Given the description of an element on the screen output the (x, y) to click on. 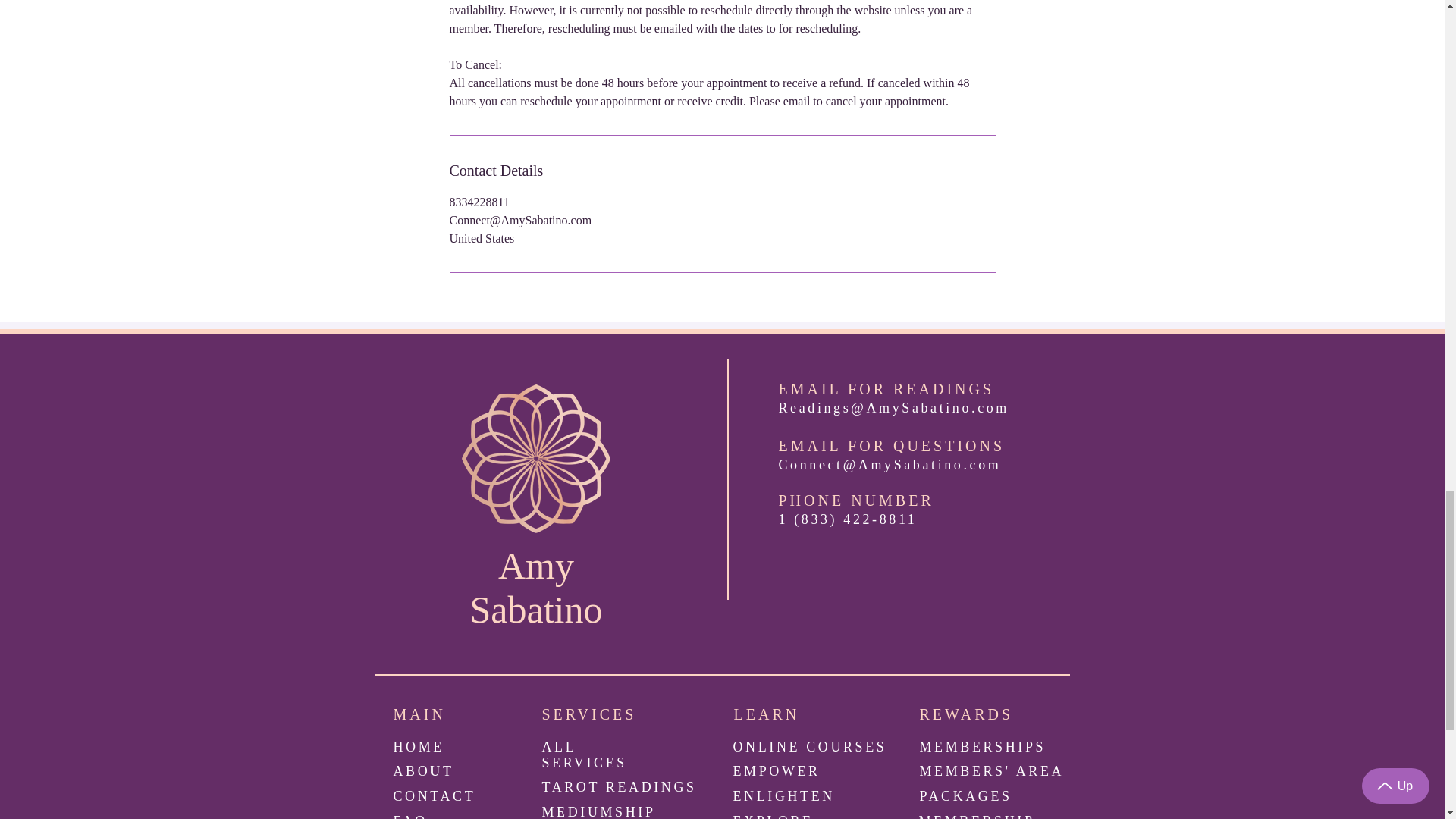
ABOUT (422, 770)
FAQ (409, 816)
HOME (418, 746)
CONTACT (434, 795)
ALL SERVICES (583, 754)
